Given the description of an element on the screen output the (x, y) to click on. 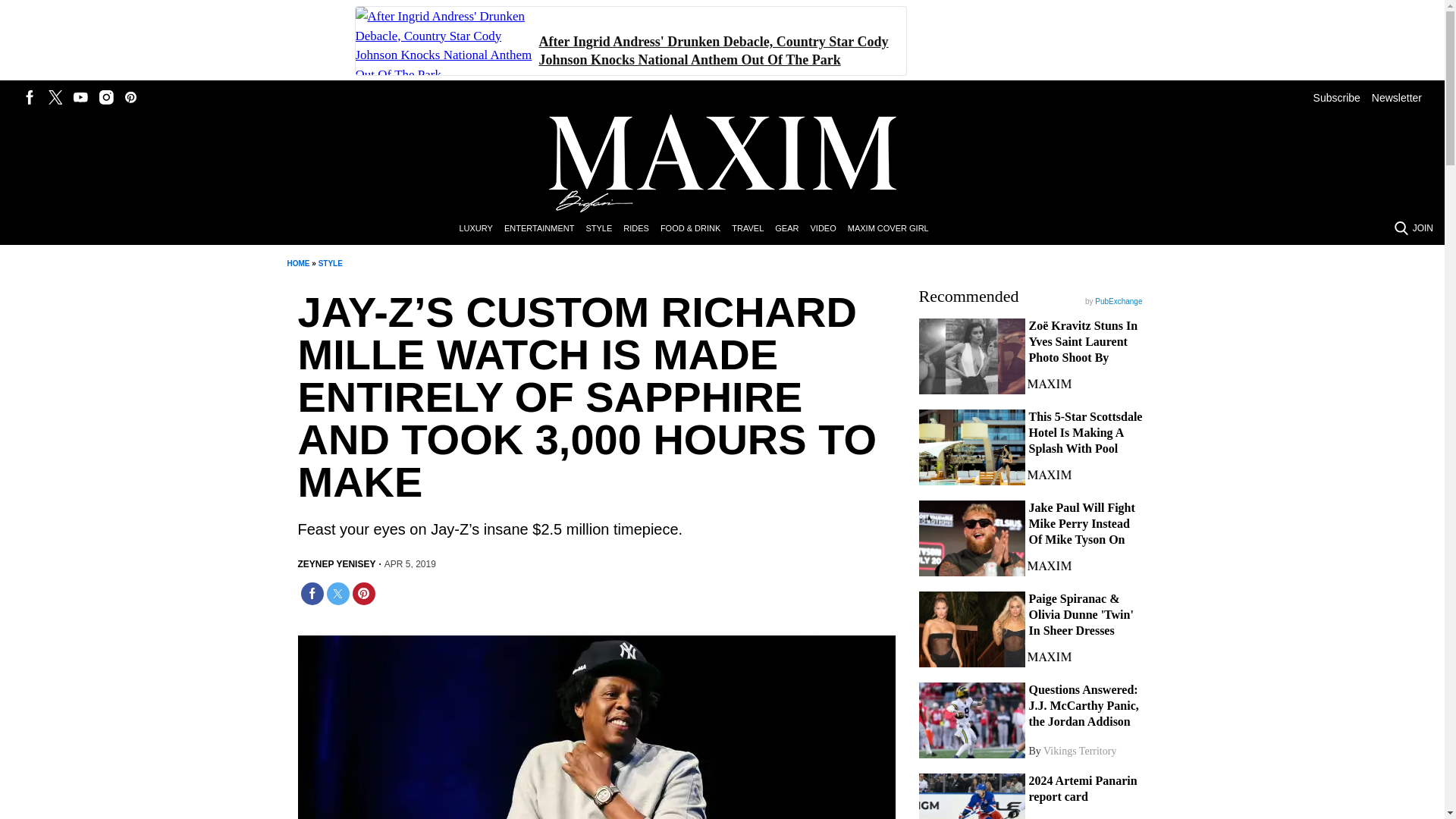
TRAVEL (753, 228)
JOIN (1422, 228)
Posts by Zeynep Yenisey (336, 563)
Follow us on Instagram (106, 97)
ENTERTAINMENT (544, 228)
Follow us on Youtube (80, 97)
Newsletter (1396, 97)
ZEYNEP YENISEY (336, 563)
Subscribe (1336, 97)
MAXIM COVER GIRL (893, 228)
LUXURY (480, 228)
VIDEO (828, 228)
HOME (297, 263)
STYLE (604, 228)
RIDES (642, 228)
